Given the description of an element on the screen output the (x, y) to click on. 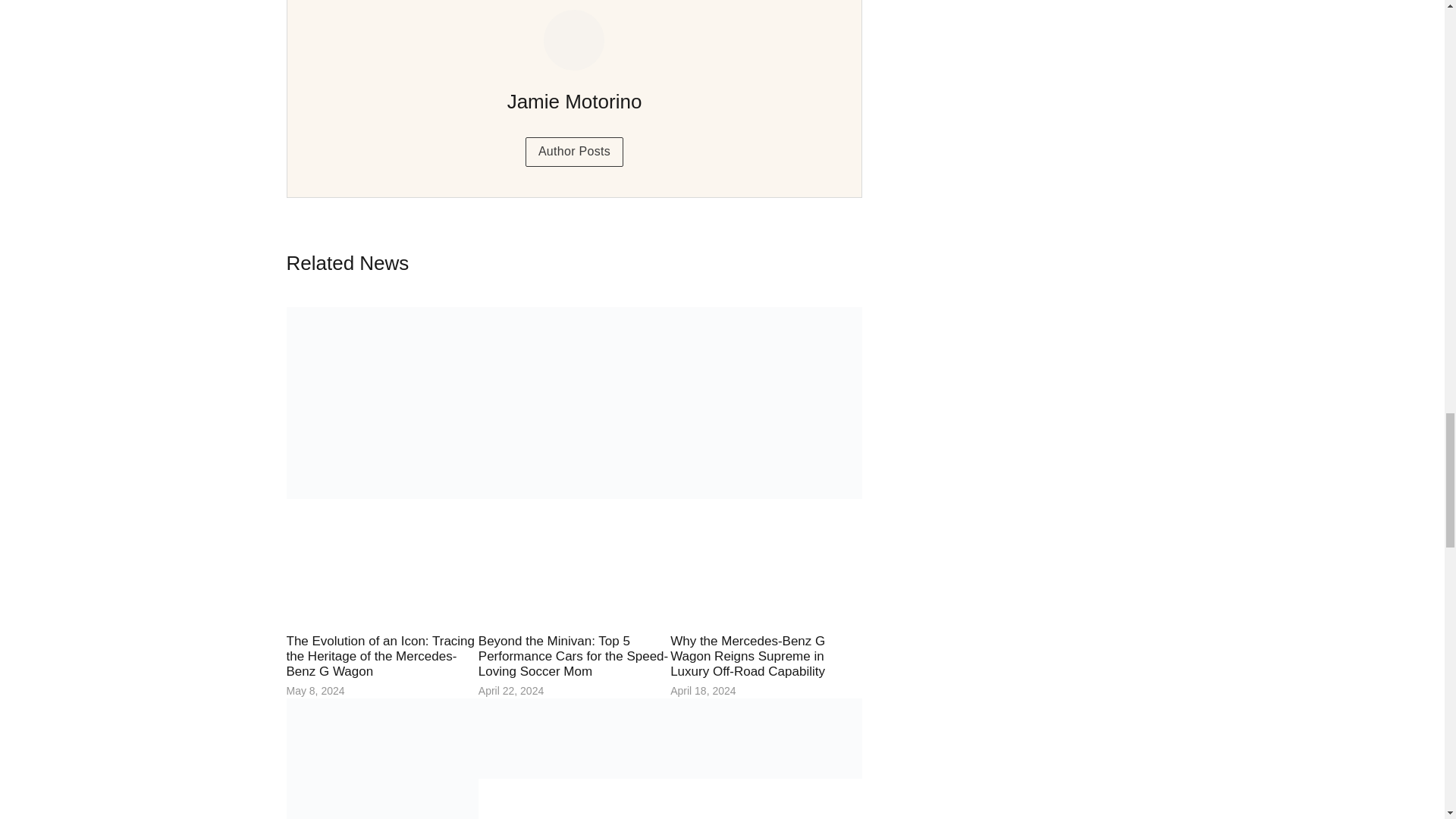
Author Posts (574, 152)
Jamie Motorino (574, 102)
